Given the description of an element on the screen output the (x, y) to click on. 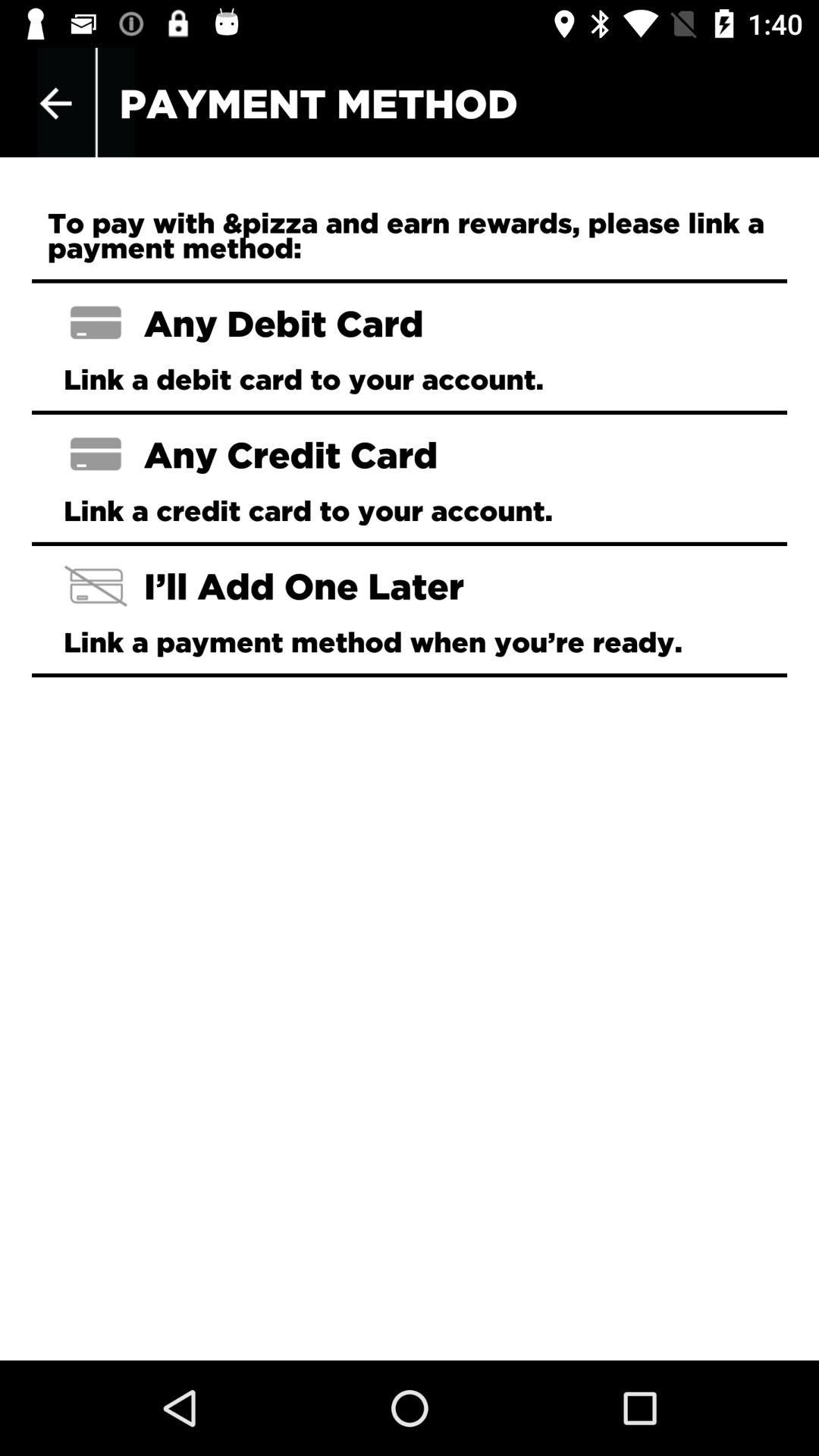
press icon above to pay with item (55, 103)
